Given the description of an element on the screen output the (x, y) to click on. 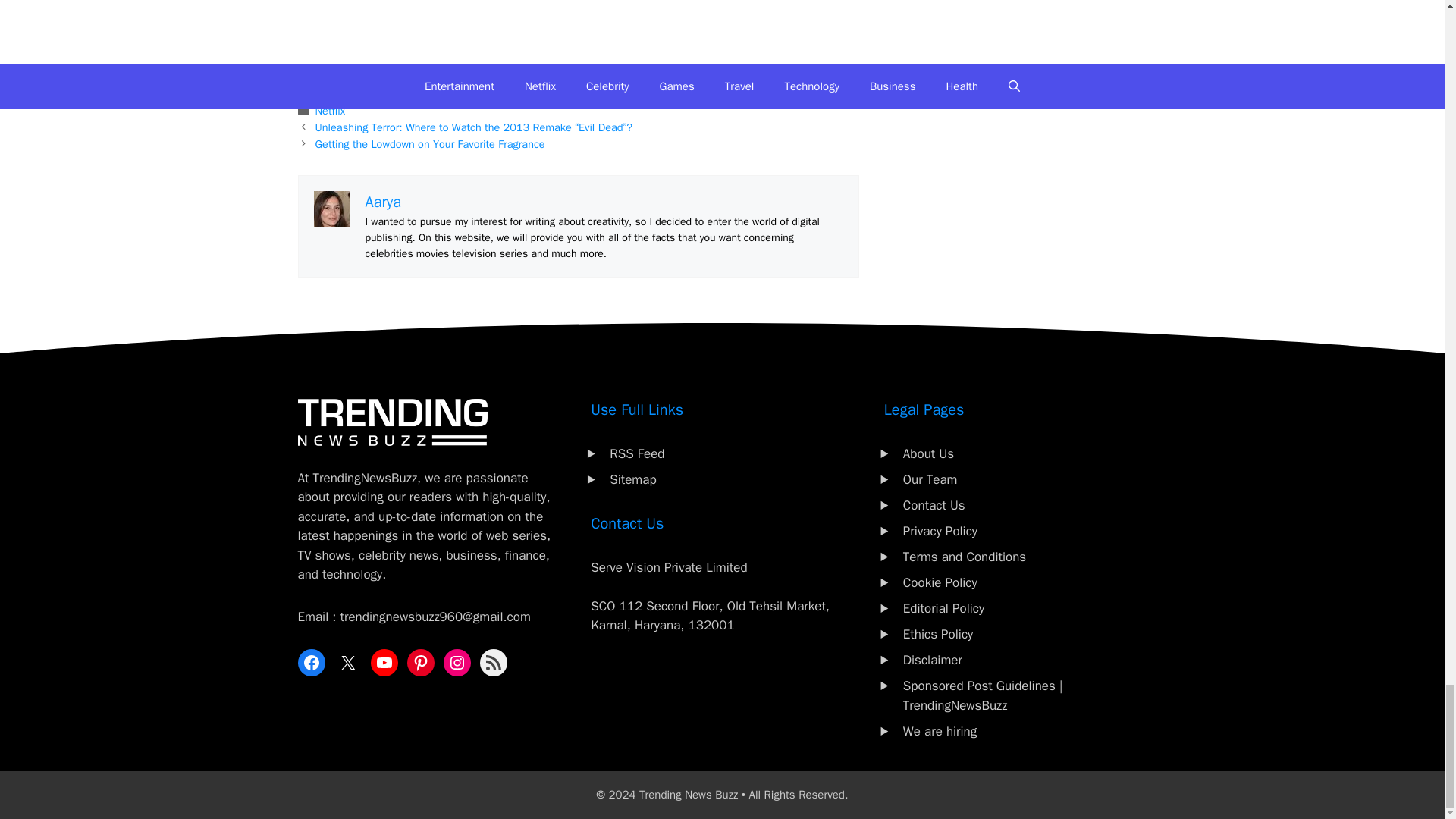
Netflix (330, 110)
Trendingnewsbuzz-white (391, 421)
Aarya (383, 201)
Getting the Lowdown on Your Favorite Fragrance (429, 143)
